Given the description of an element on the screen output the (x, y) to click on. 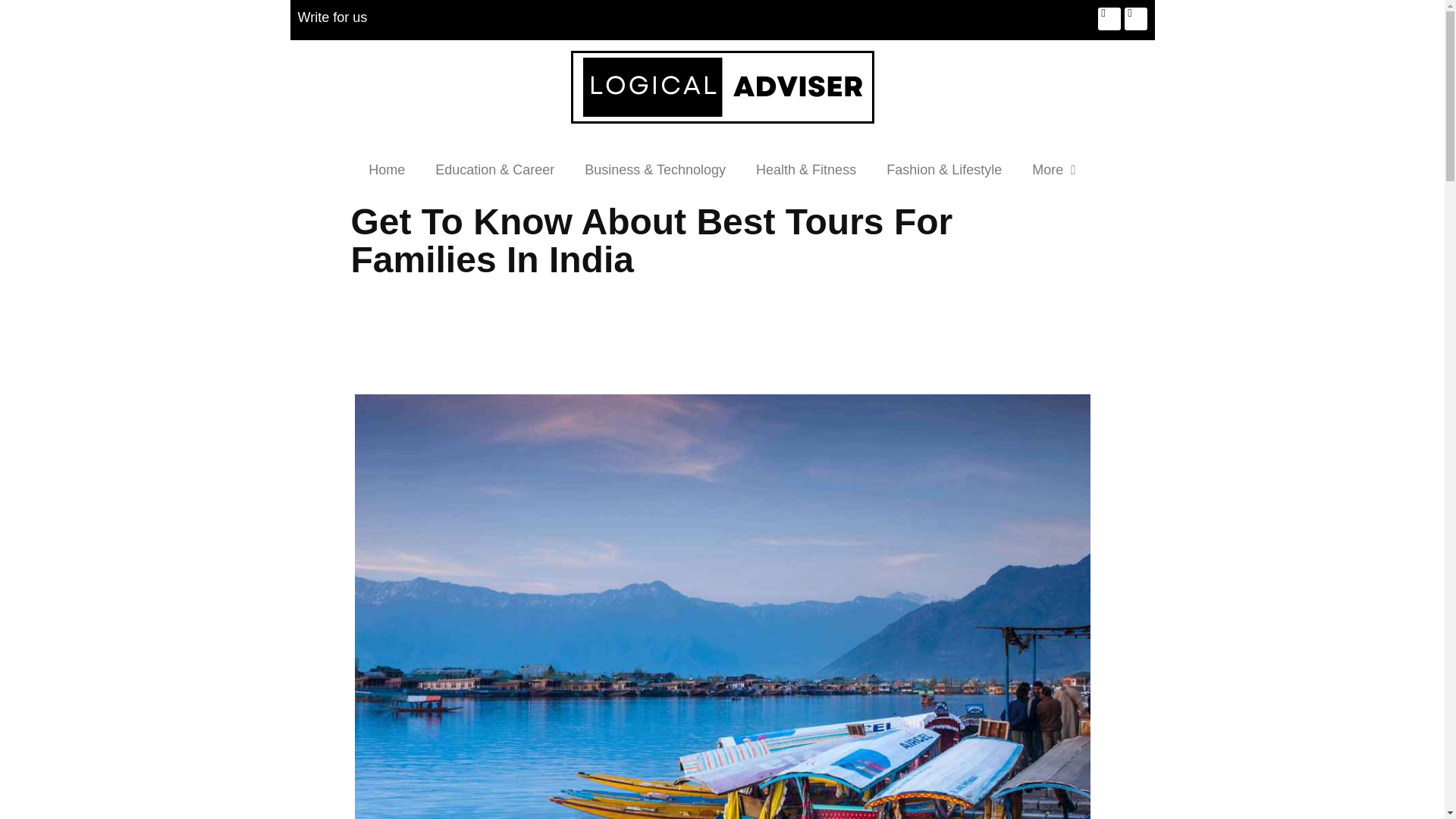
Home (386, 169)
Logical Adviser (721, 87)
More (1053, 169)
Write for us (331, 17)
